Given the description of an element on the screen output the (x, y) to click on. 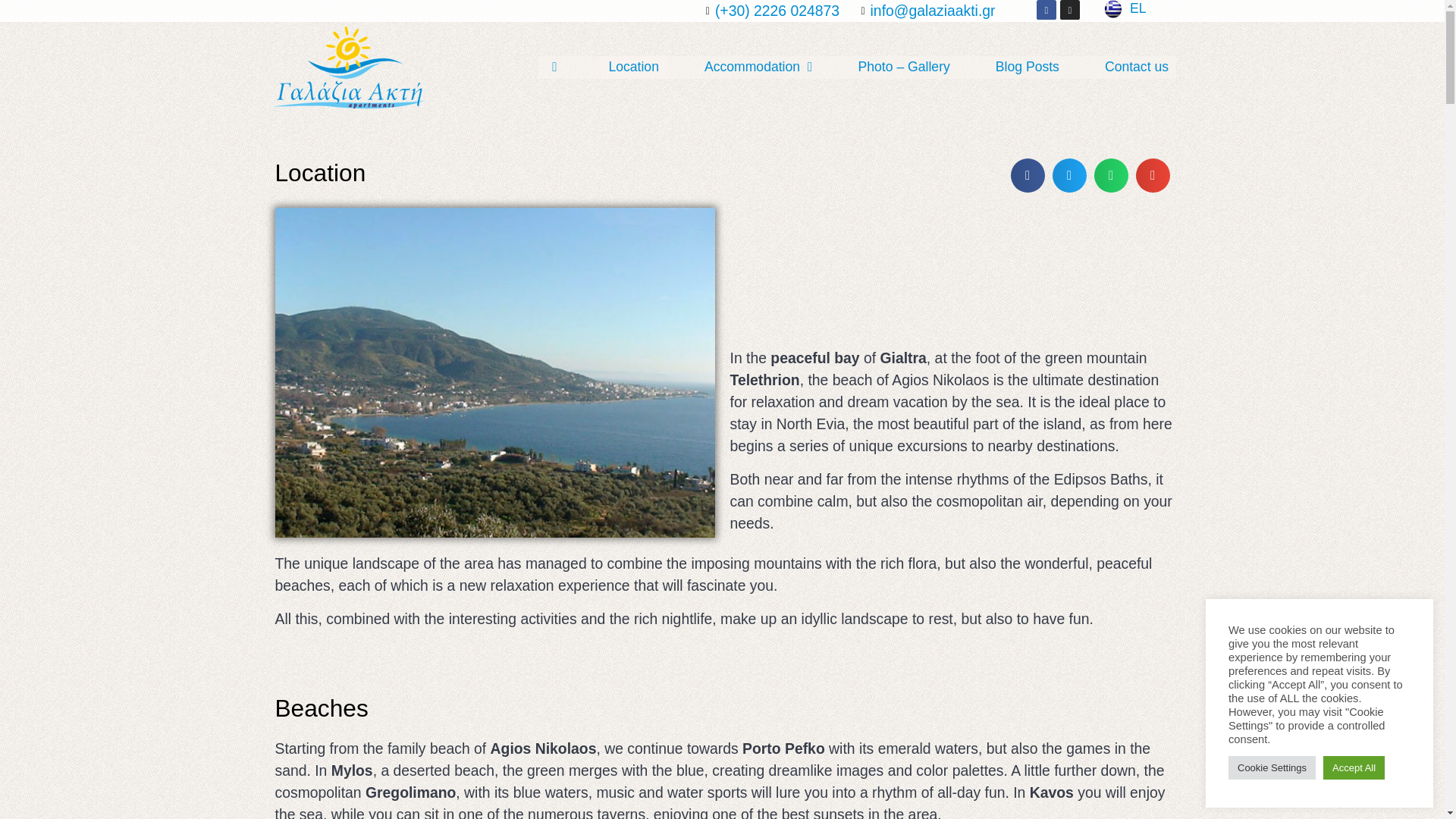
Accommodation (759, 66)
EL (1125, 9)
Blog Posts (1027, 66)
Location (632, 66)
Contact us (1136, 66)
